Given the description of an element on the screen output the (x, y) to click on. 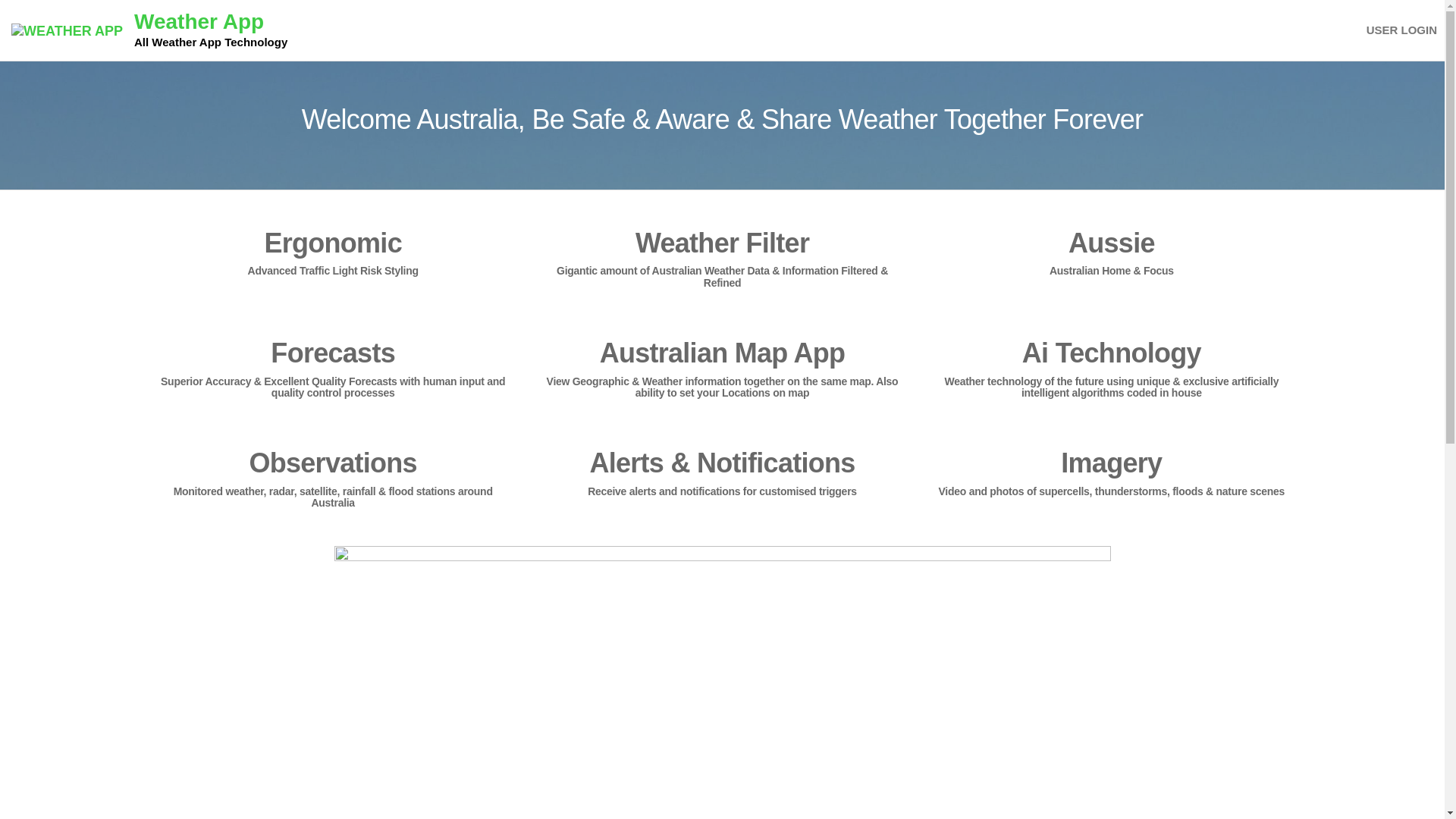
USER LOGIN Element type: text (1401, 30)
Weather App Element type: text (198, 21)
